Given the description of an element on the screen output the (x, y) to click on. 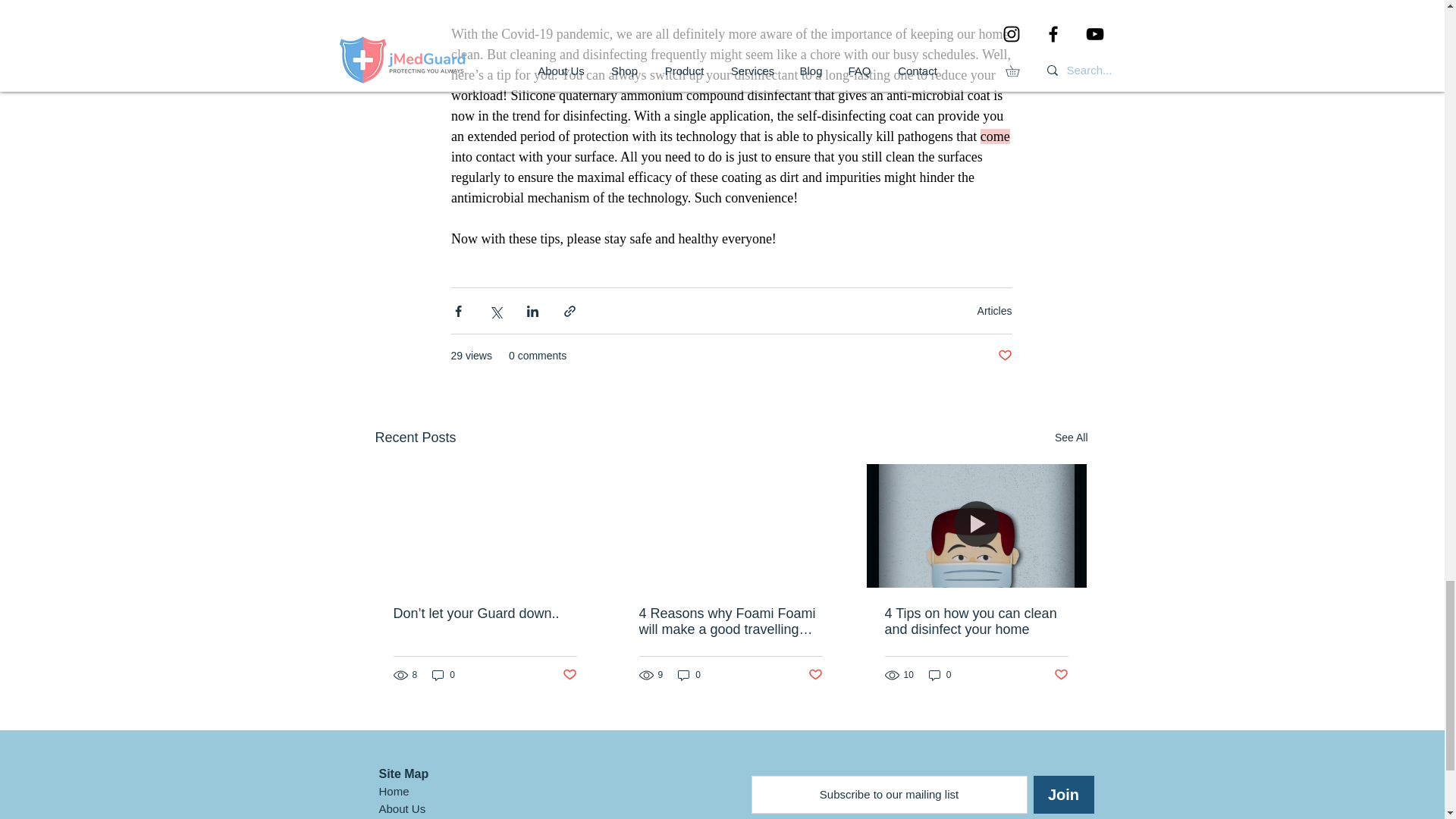
Post not marked as liked (569, 675)
Post not marked as liked (815, 675)
Post not marked as liked (1004, 355)
0 (689, 675)
Articles (993, 310)
0 (443, 675)
See All (1070, 437)
